Given the description of an element on the screen output the (x, y) to click on. 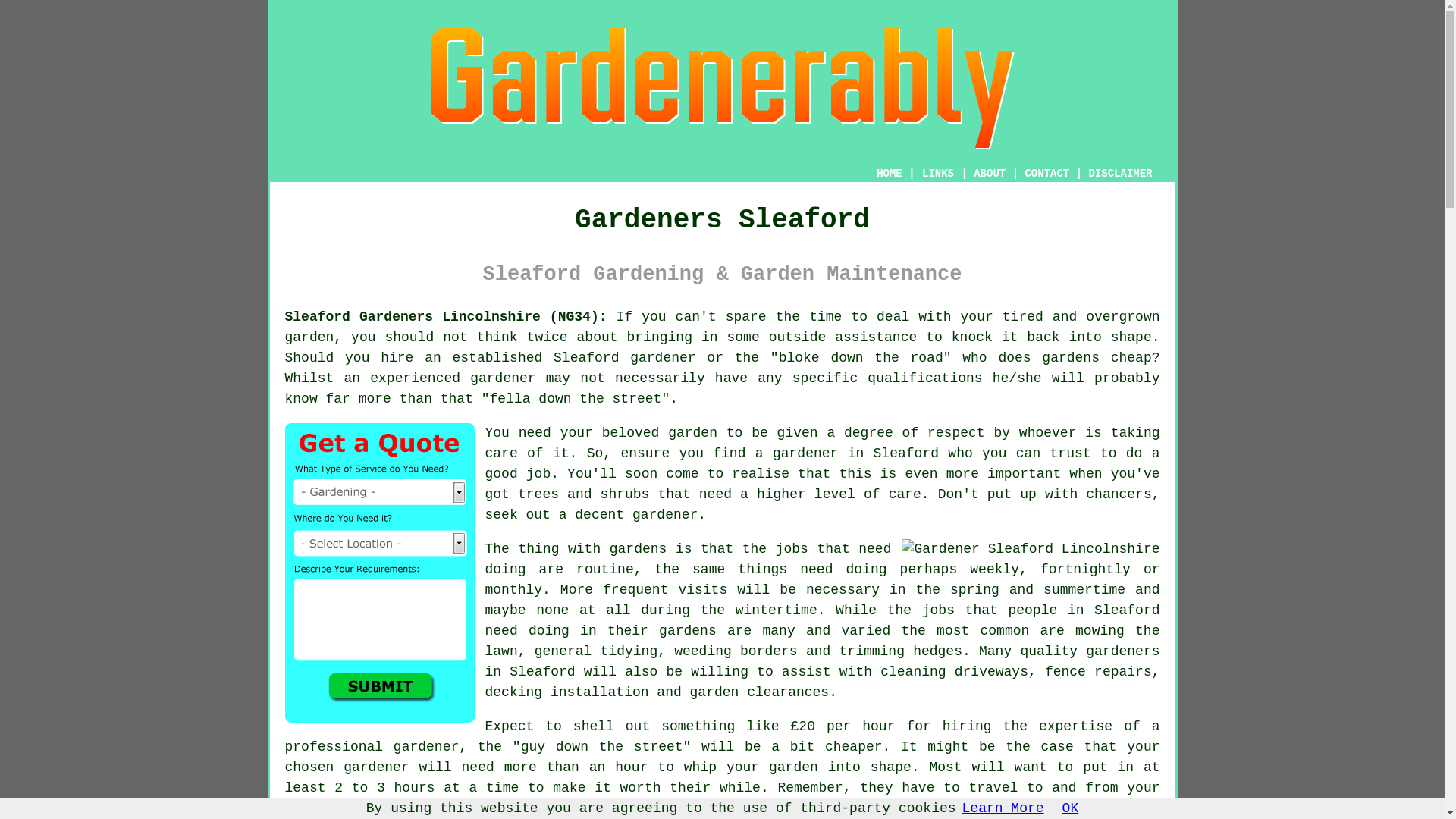
Free Gardening Quotes Sleaford (379, 572)
Gardener Sleaford (1029, 548)
HOME (889, 173)
garden (309, 337)
LINKS (938, 173)
